Given the description of an element on the screen output the (x, y) to click on. 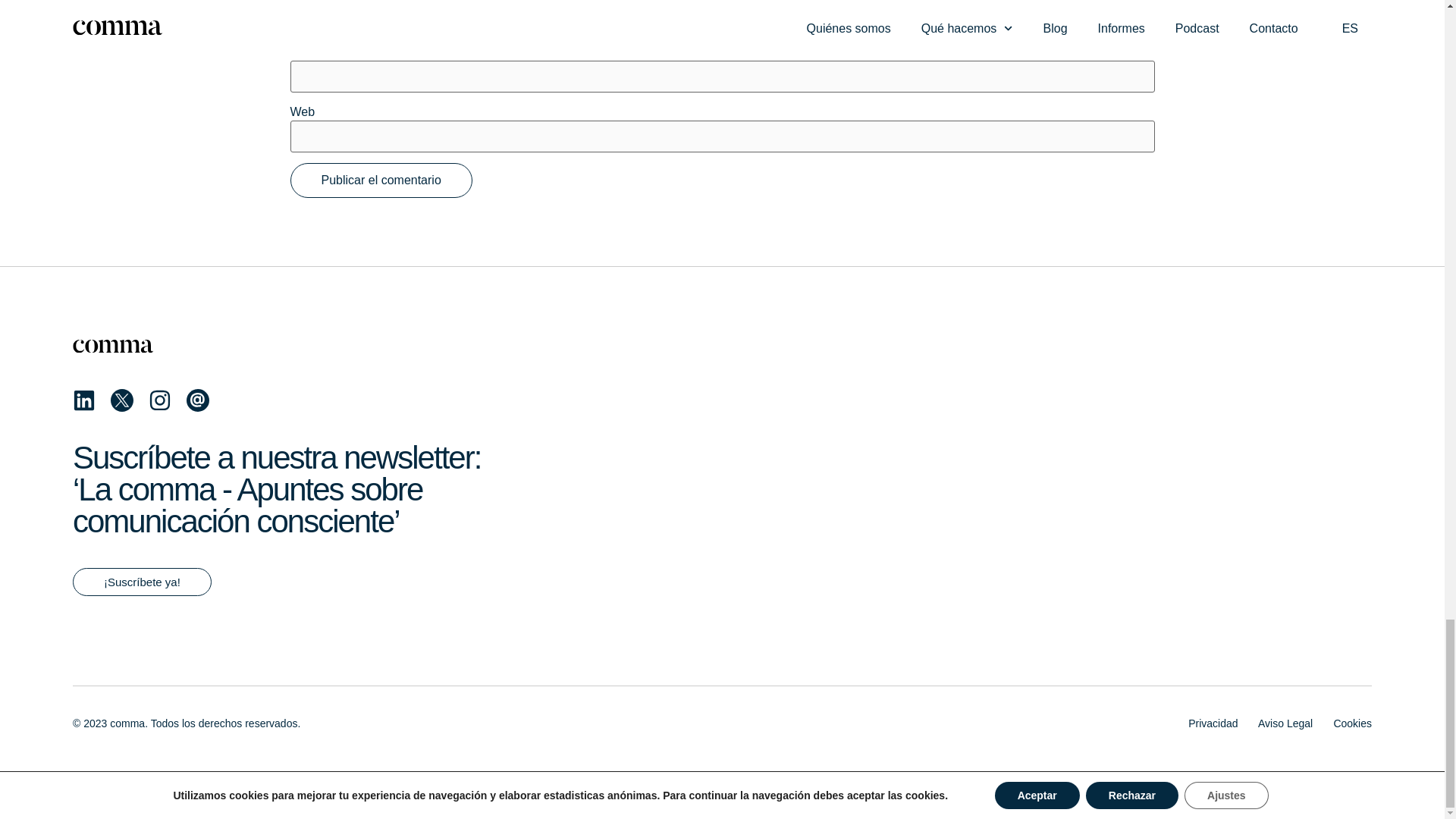
Publicar el comentario (380, 180)
